Given the description of an element on the screen output the (x, y) to click on. 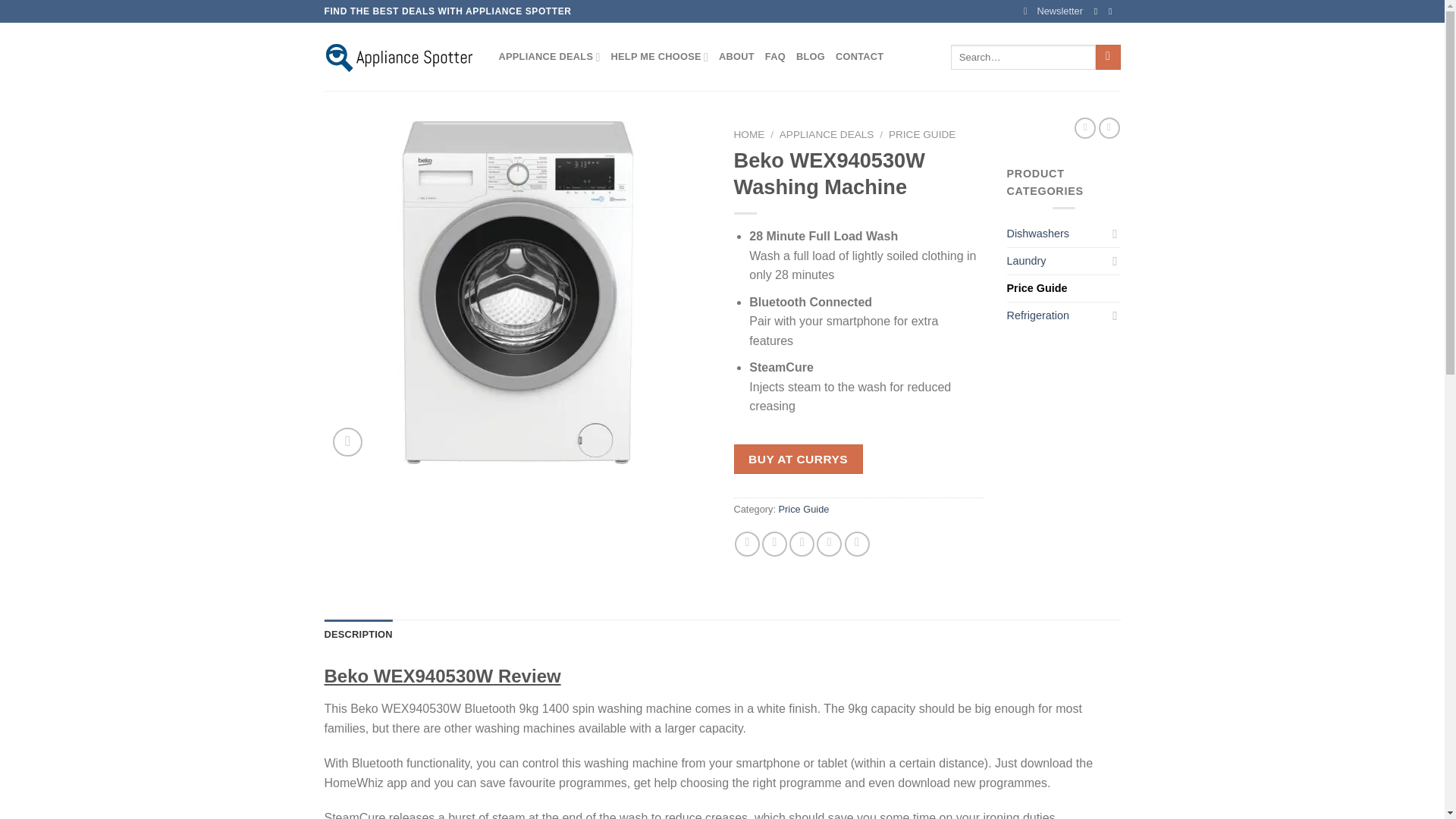
BLOG (810, 56)
BUY AT CURRYS (798, 459)
CONTACT (859, 56)
PRICE GUIDE (921, 134)
BEKO WEX940530W (517, 292)
Appliance Spotter (400, 56)
ABOUT (736, 56)
HELP ME CHOOSE (660, 56)
Price Guide (803, 509)
HOME (749, 134)
